Given the description of an element on the screen output the (x, y) to click on. 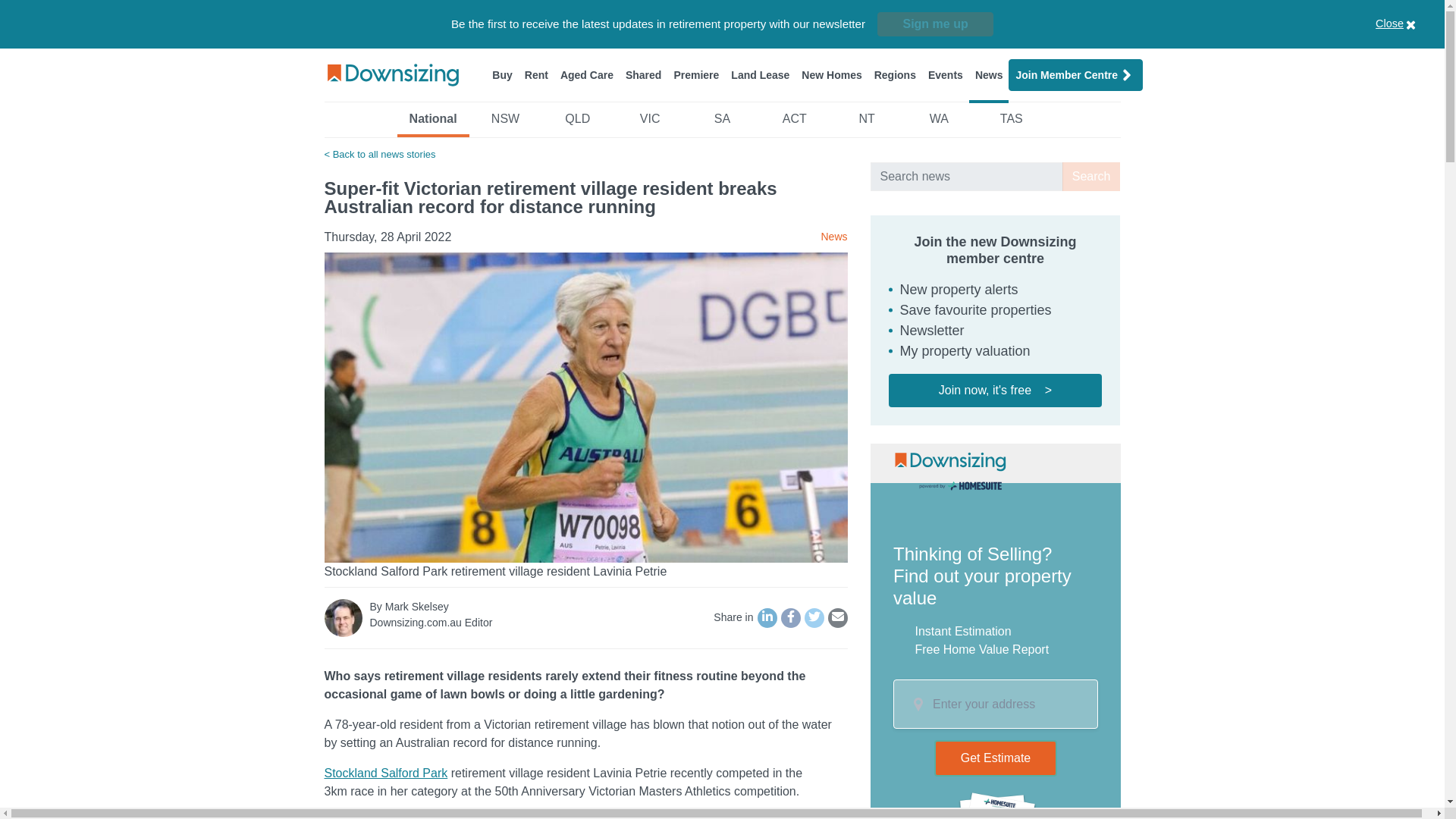
Aged Care (587, 74)
QLD (576, 123)
NSW (504, 123)
Buy (502, 74)
Search (1091, 176)
Close (1414, 24)
Stockland Salford Park (386, 772)
SA (721, 123)
Land Lease (759, 74)
NT (865, 123)
News (989, 74)
Rent (536, 74)
WA (938, 123)
Shared (643, 74)
Regions (894, 74)
